Given the description of an element on the screen output the (x, y) to click on. 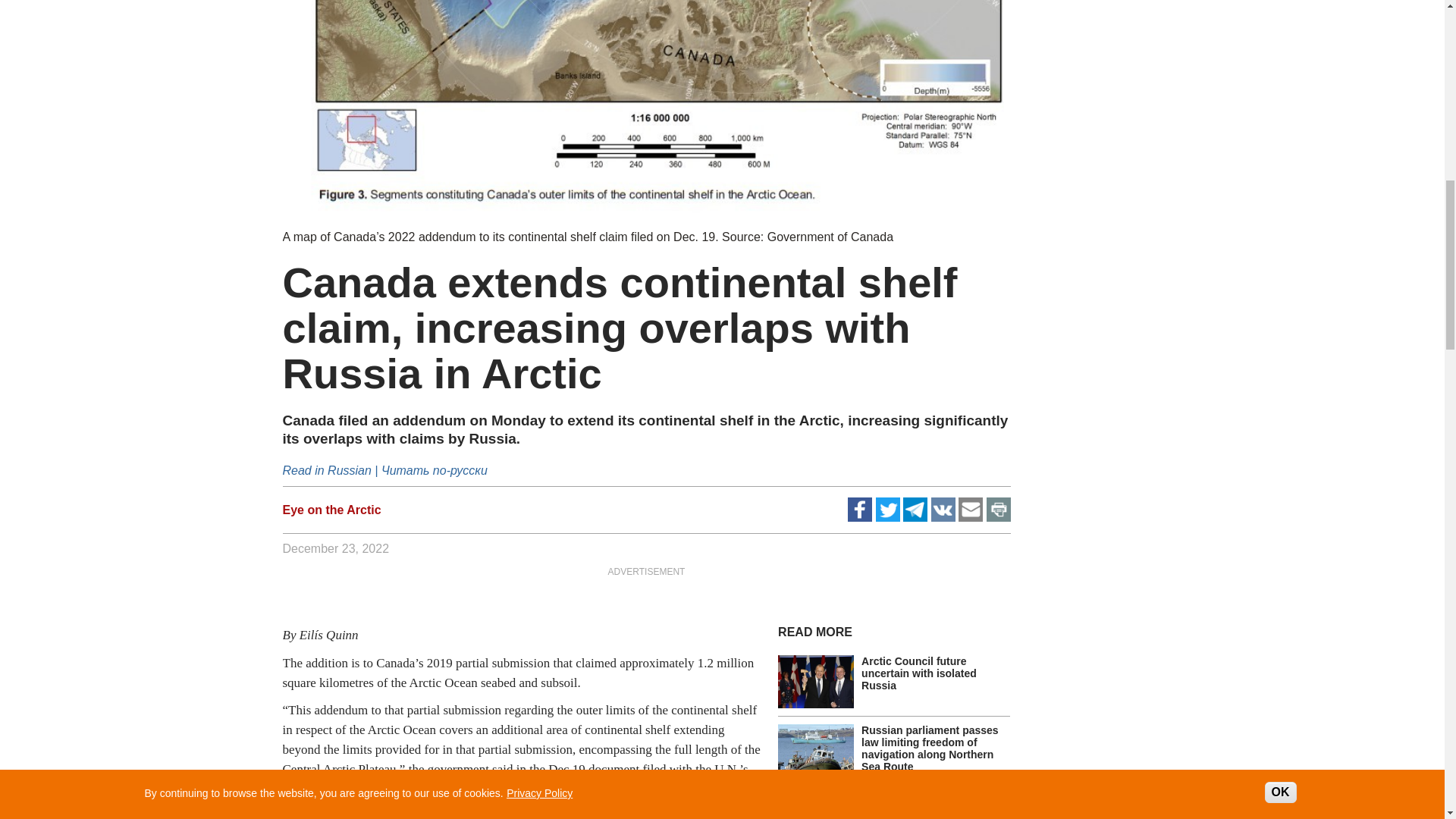
Arctic Council future uncertain with isolated Russia (918, 673)
Eye on the Arctic (331, 508)
